Given the description of an element on the screen output the (x, y) to click on. 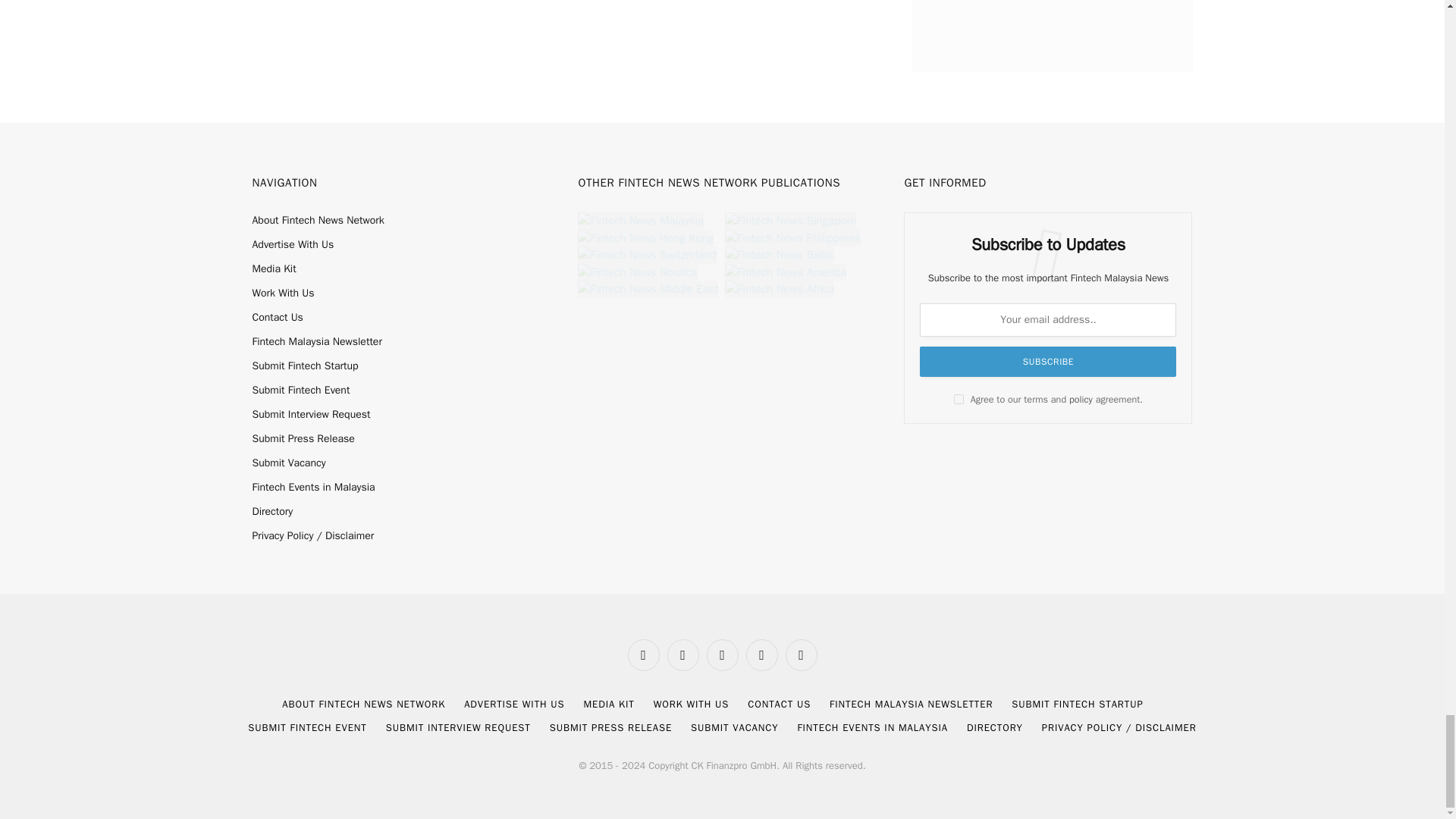
Subscribe (1048, 361)
on (958, 398)
